Given the description of an element on the screen output the (x, y) to click on. 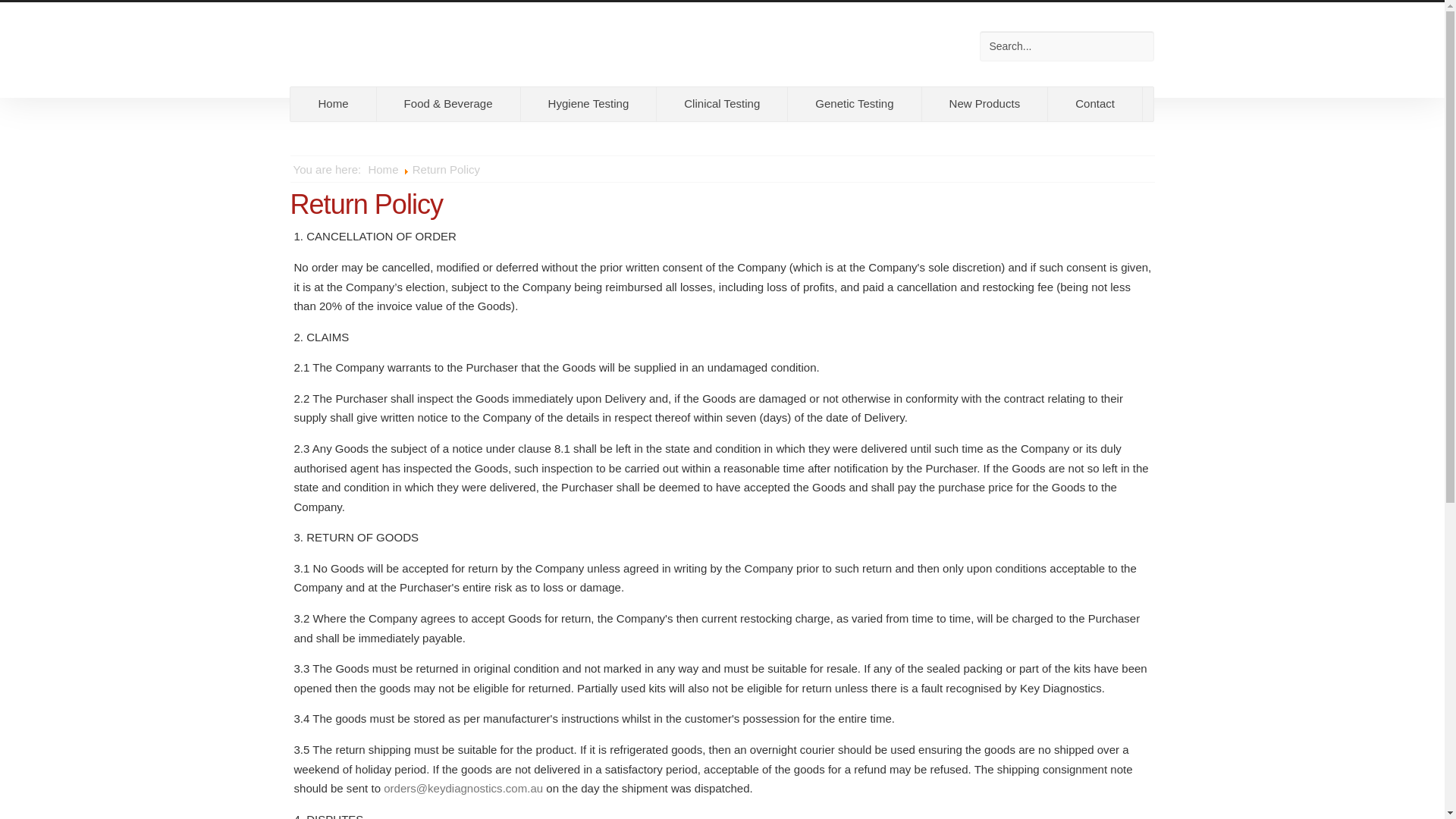
Genetic Testing (854, 103)
Home (384, 170)
New Products (984, 103)
Search... (1066, 46)
Hygiene Testing (589, 103)
Clinical Testing (721, 103)
keydiagnostics (393, 42)
Contact (1095, 103)
Home (332, 103)
